Given the description of an element on the screen output the (x, y) to click on. 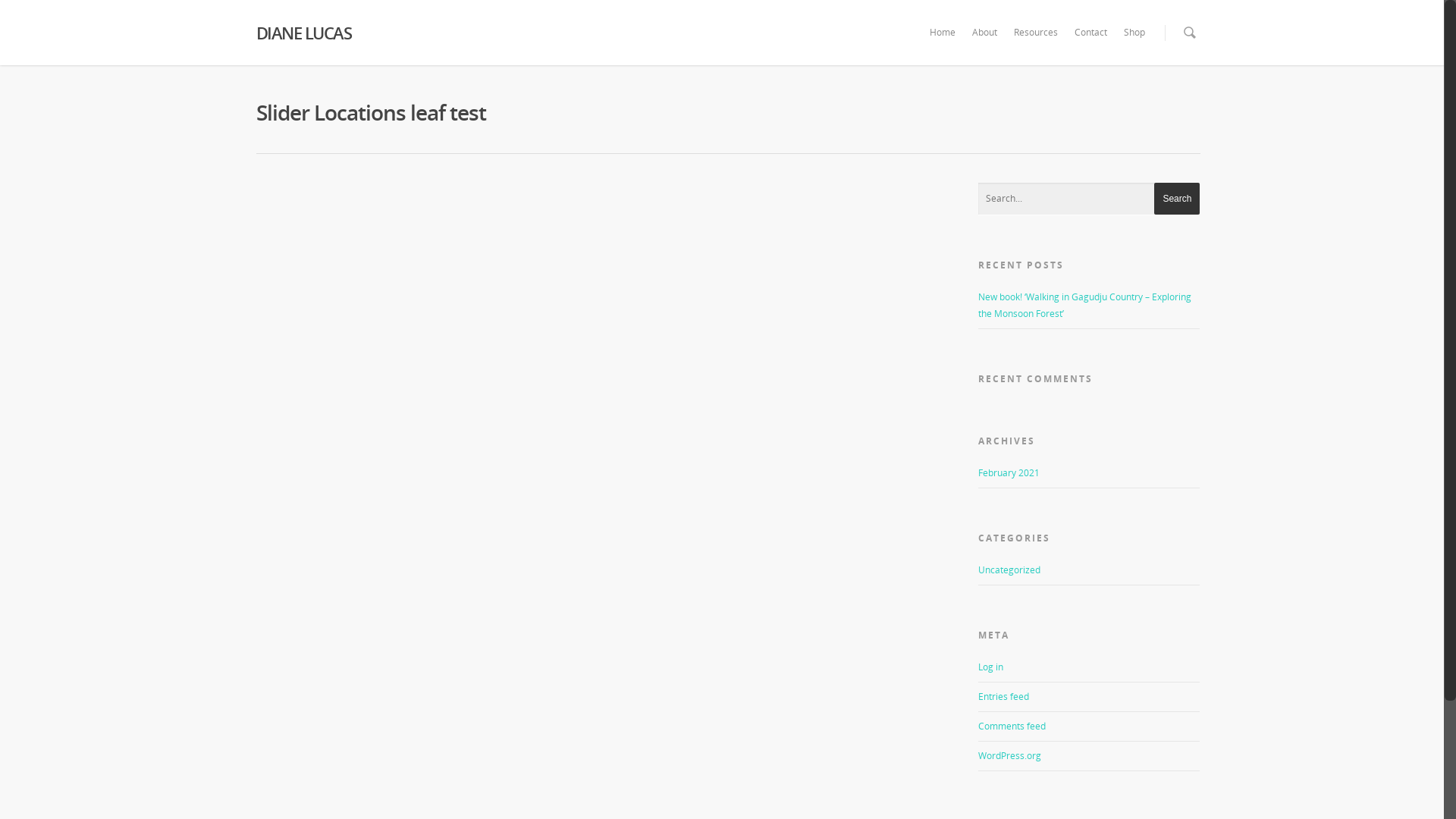
Contact Element type: text (1090, 43)
Home Element type: text (942, 43)
Search for: Element type: hover (1089, 198)
Shop Element type: text (1134, 43)
Comments feed Element type: text (1011, 725)
Entries feed Element type: text (1003, 696)
February 2021 Element type: text (1008, 472)
WordPress.org Element type: text (1009, 755)
Resources Element type: text (1035, 43)
About Element type: text (984, 43)
DIANE LUCAS Element type: text (367, 32)
Log in Element type: text (990, 666)
Uncategorized Element type: text (1089, 573)
Search Element type: text (1176, 198)
